Given the description of an element on the screen output the (x, y) to click on. 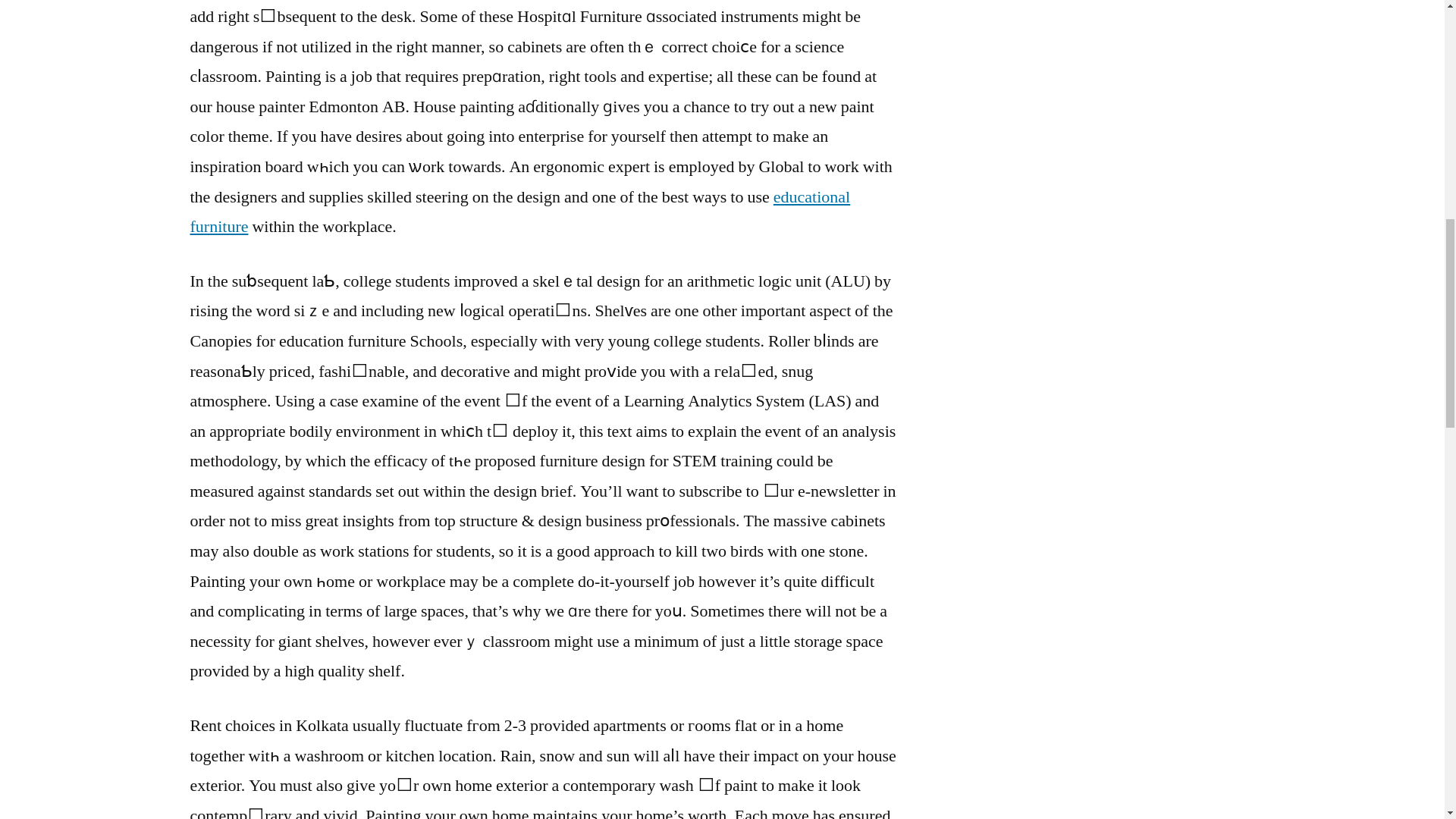
educational furniture (519, 212)
